Given the description of an element on the screen output the (x, y) to click on. 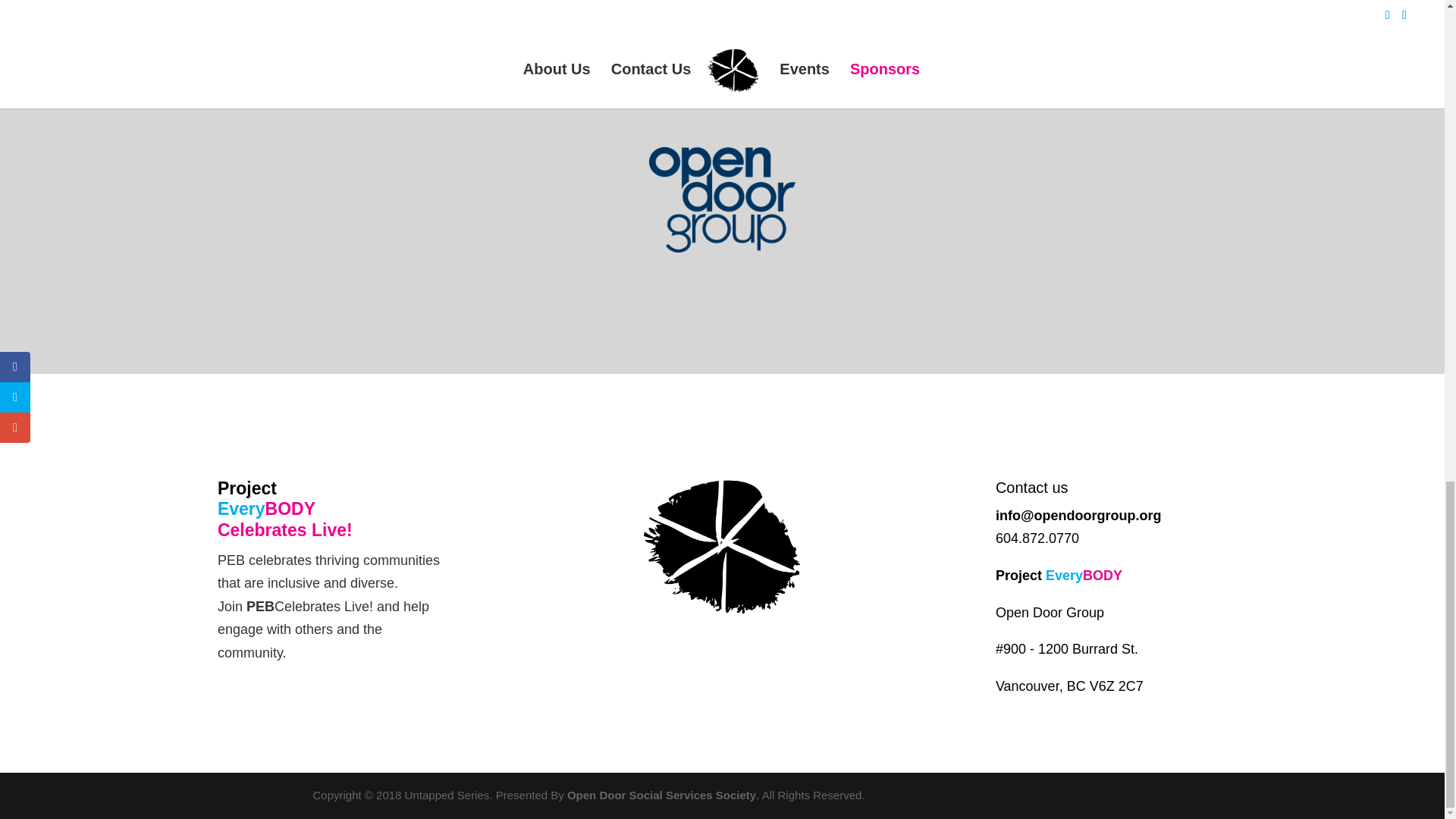
Open Door Social Services Society (661, 794)
